Given the description of an element on the screen output the (x, y) to click on. 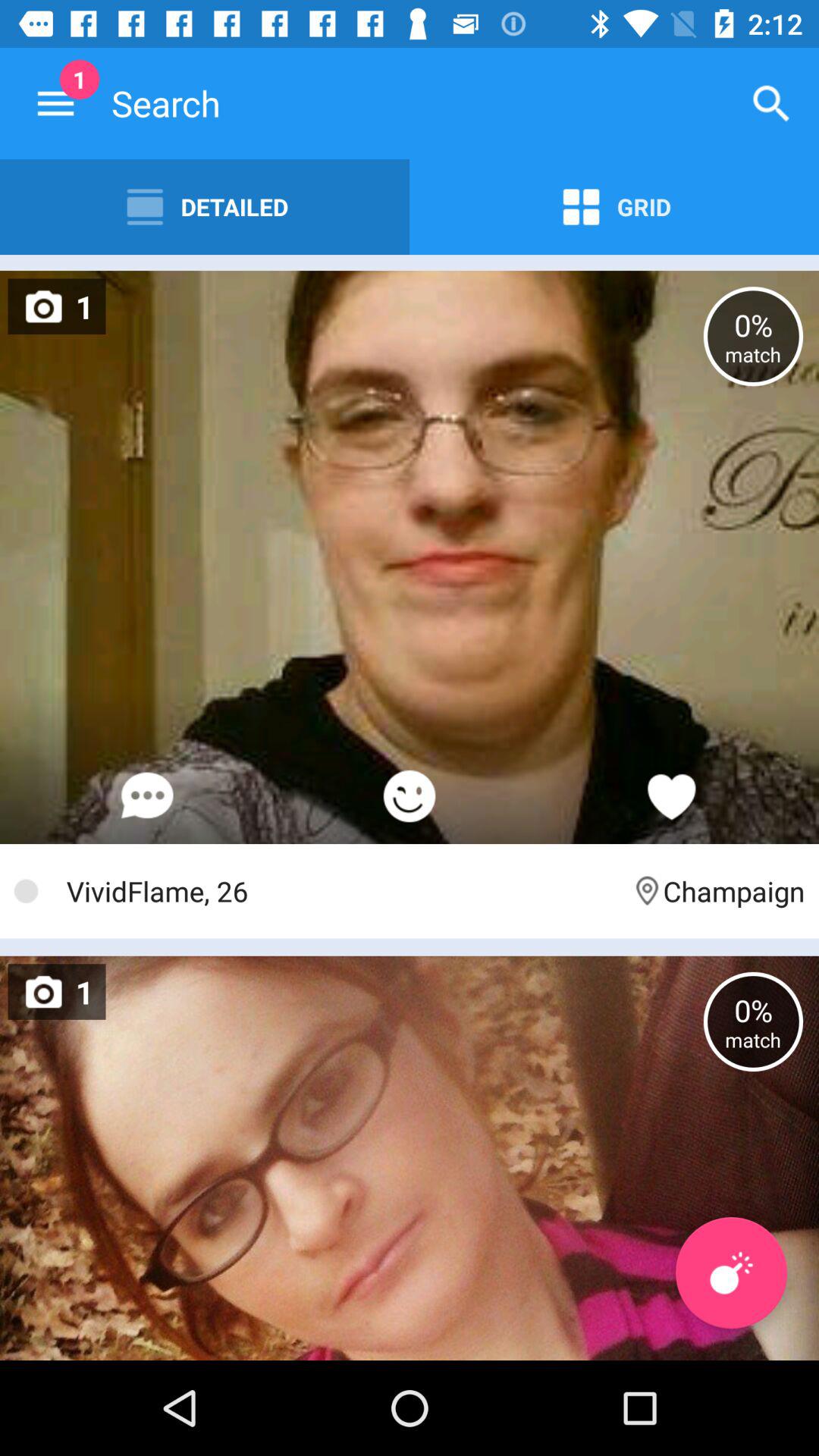
turn off the icon next to the search icon (771, 103)
